Given the description of an element on the screen output the (x, y) to click on. 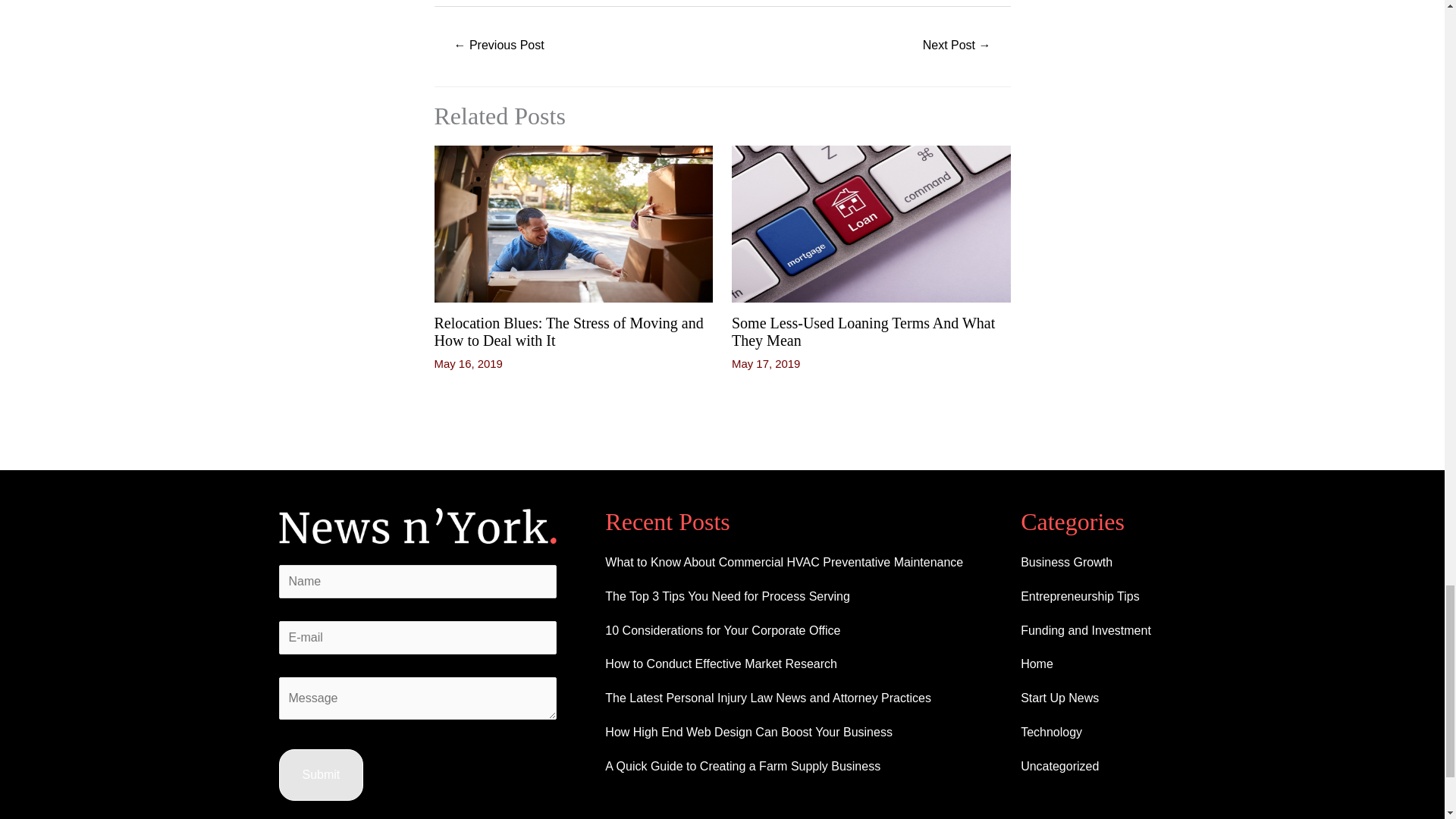
The Latest Personal Injury Law News and Attorney Practices (768, 697)
Business Growth (1066, 562)
Submit (321, 774)
How High End Web Design Can Boost Your Business (748, 731)
10 Considerations for Your Corporate Office (722, 630)
The Top 3 Tips You Need for Process Serving (727, 595)
How to Conduct Effective Market Research (721, 663)
What to Know About Commercial HVAC Preventative Maintenance (783, 562)
Submit (321, 774)
Some Less-Used Loaning Terms And What They Mean (863, 331)
A Quick Guide to Creating a Farm Supply Business (742, 766)
